Given the description of an element on the screen output the (x, y) to click on. 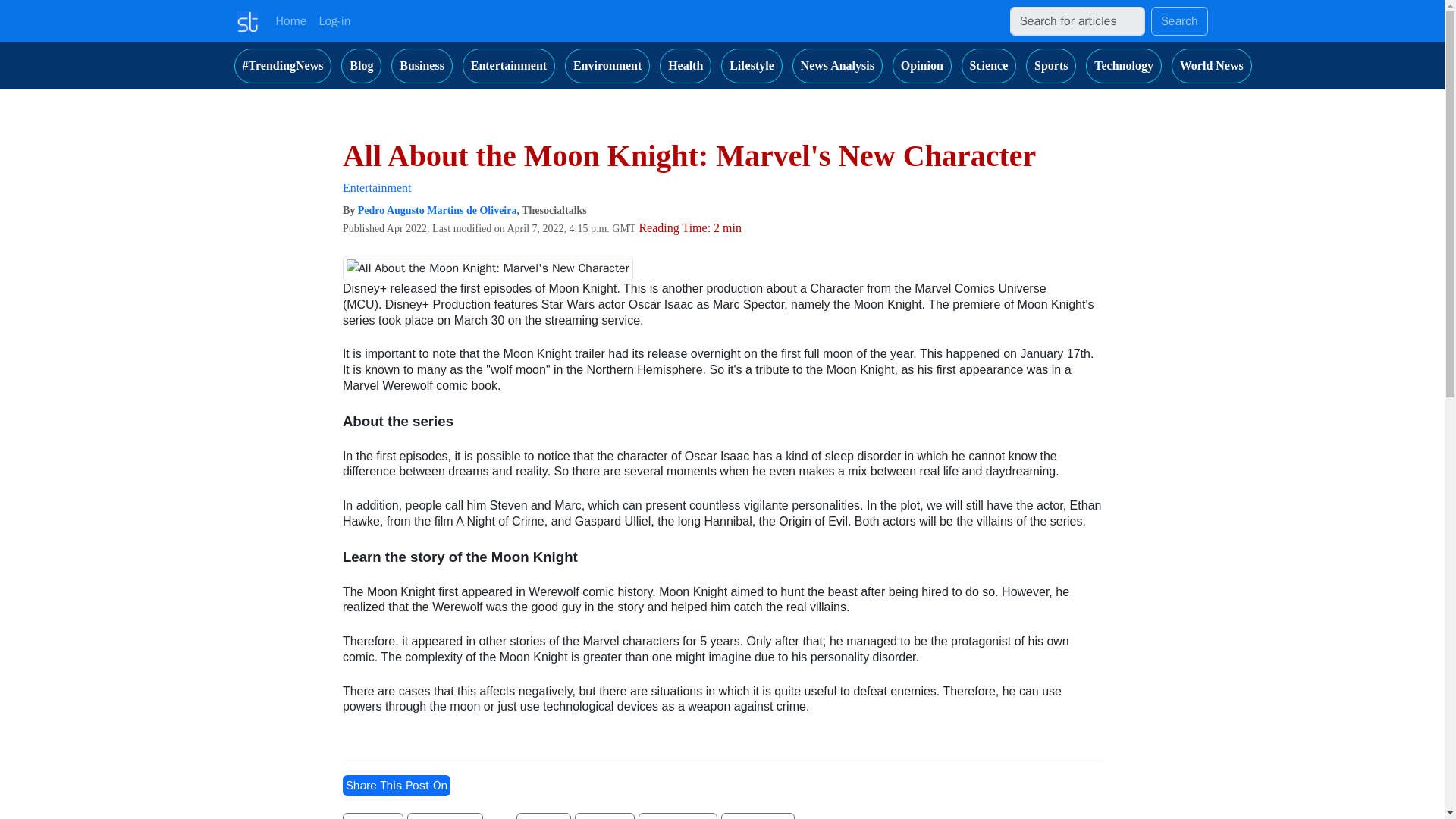
Environment (606, 65)
Lifestyle (751, 65)
Science (988, 65)
Facebook (445, 816)
Pedro Augusto Martins de Oliveira (437, 210)
World News (1212, 65)
Health (685, 65)
Business (421, 65)
Telegram (757, 816)
Sports (1050, 65)
Opinion (922, 65)
Search (1179, 21)
Blog (360, 65)
Twitter (372, 816)
WhatsApp (678, 816)
